Given the description of an element on the screen output the (x, y) to click on. 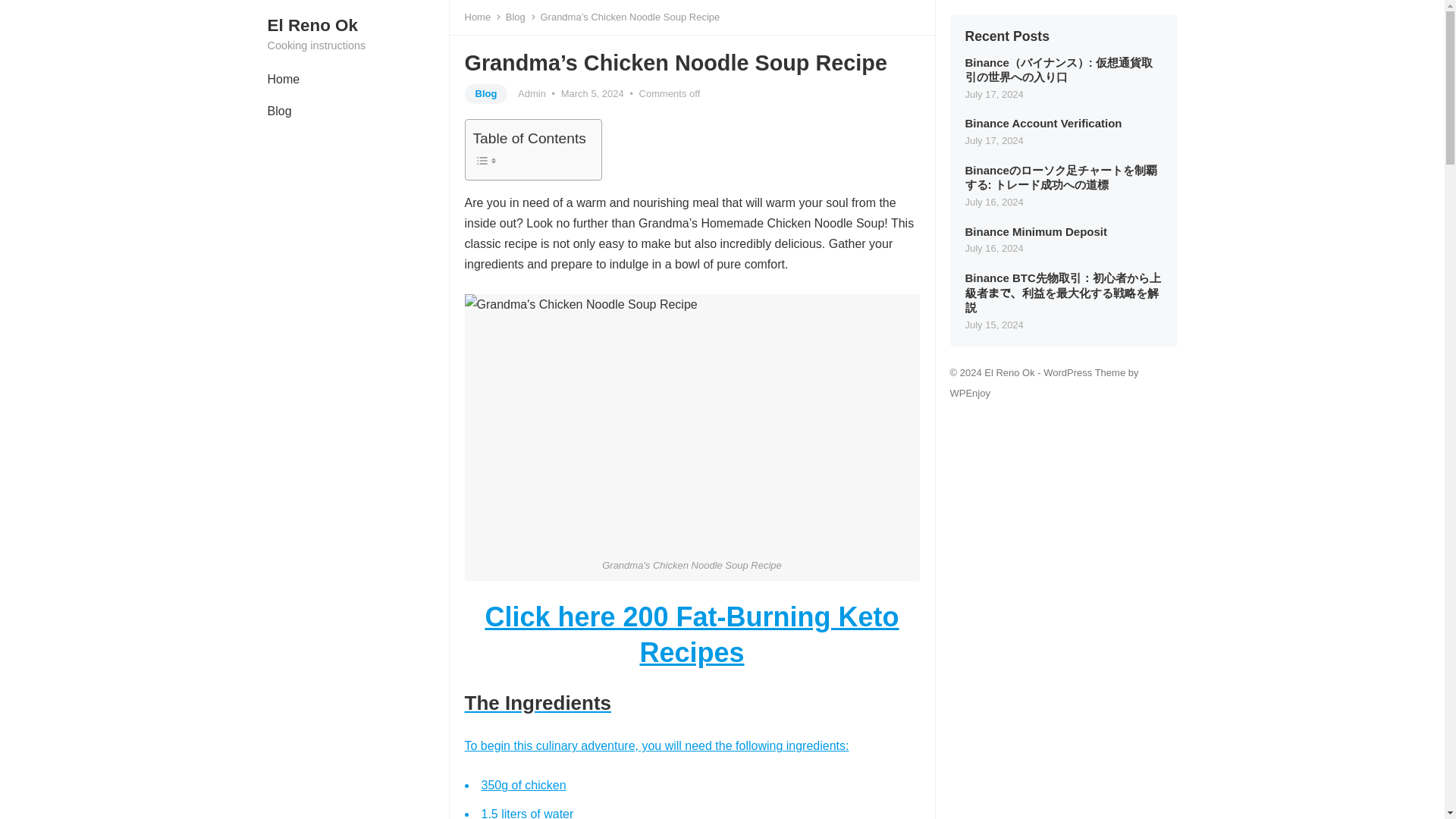
El Reno Ok (357, 25)
Admin (532, 93)
Click here 200 Fat-Burning Keto Recipes (691, 634)
Posts by Admin (532, 93)
Blog (520, 16)
Home (482, 16)
Blog (278, 111)
Home (282, 79)
Blog (485, 94)
